Given the description of an element on the screen output the (x, y) to click on. 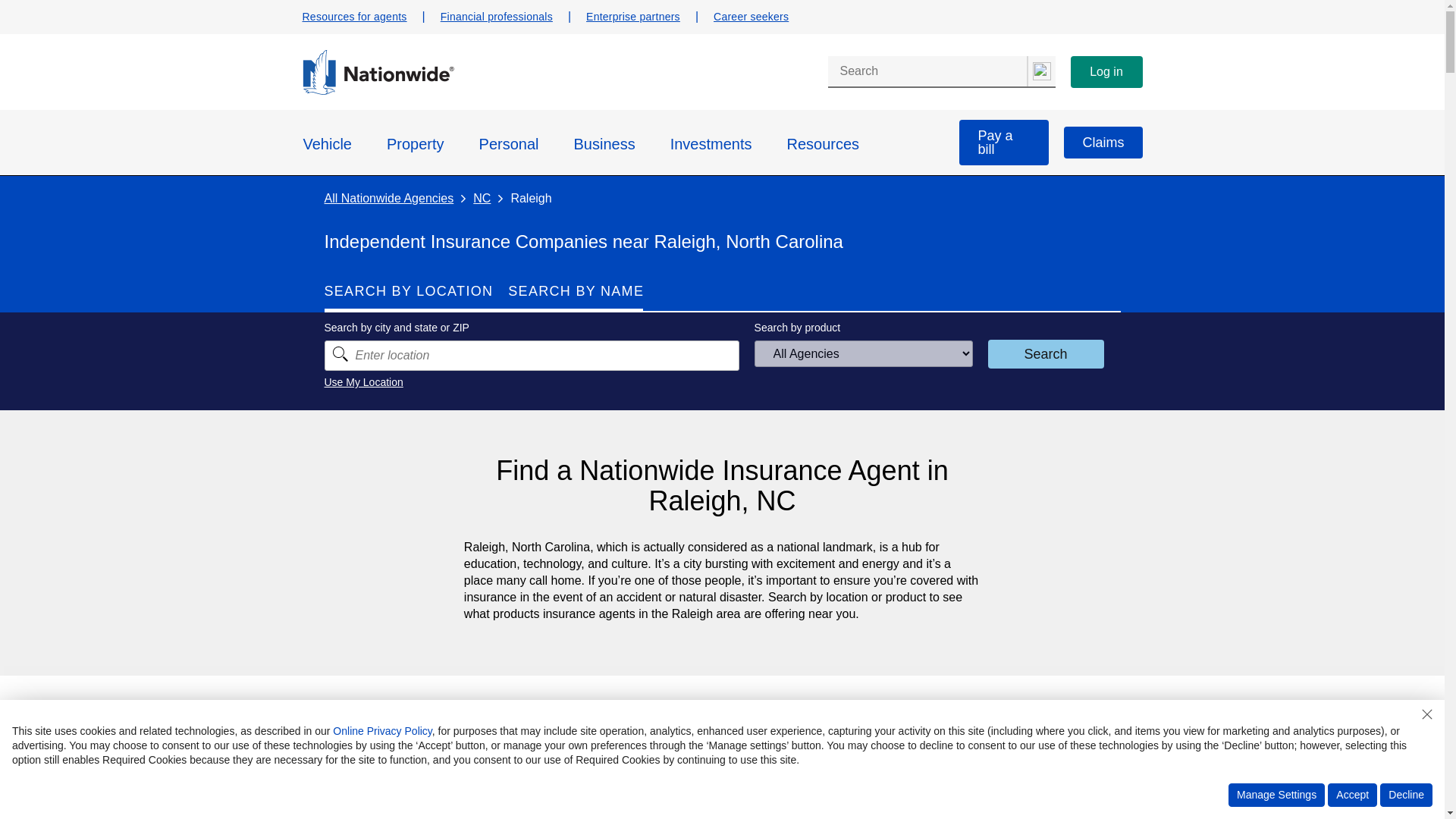
Pay a bill (1003, 142)
Financial professionals (497, 17)
Enterprise partners (632, 17)
Log in (1105, 71)
Claims (722, 298)
Career seekers (1102, 142)
Resources for agents (751, 17)
Link to Nationwide main website (353, 17)
Submit (376, 90)
